Given the description of an element on the screen output the (x, y) to click on. 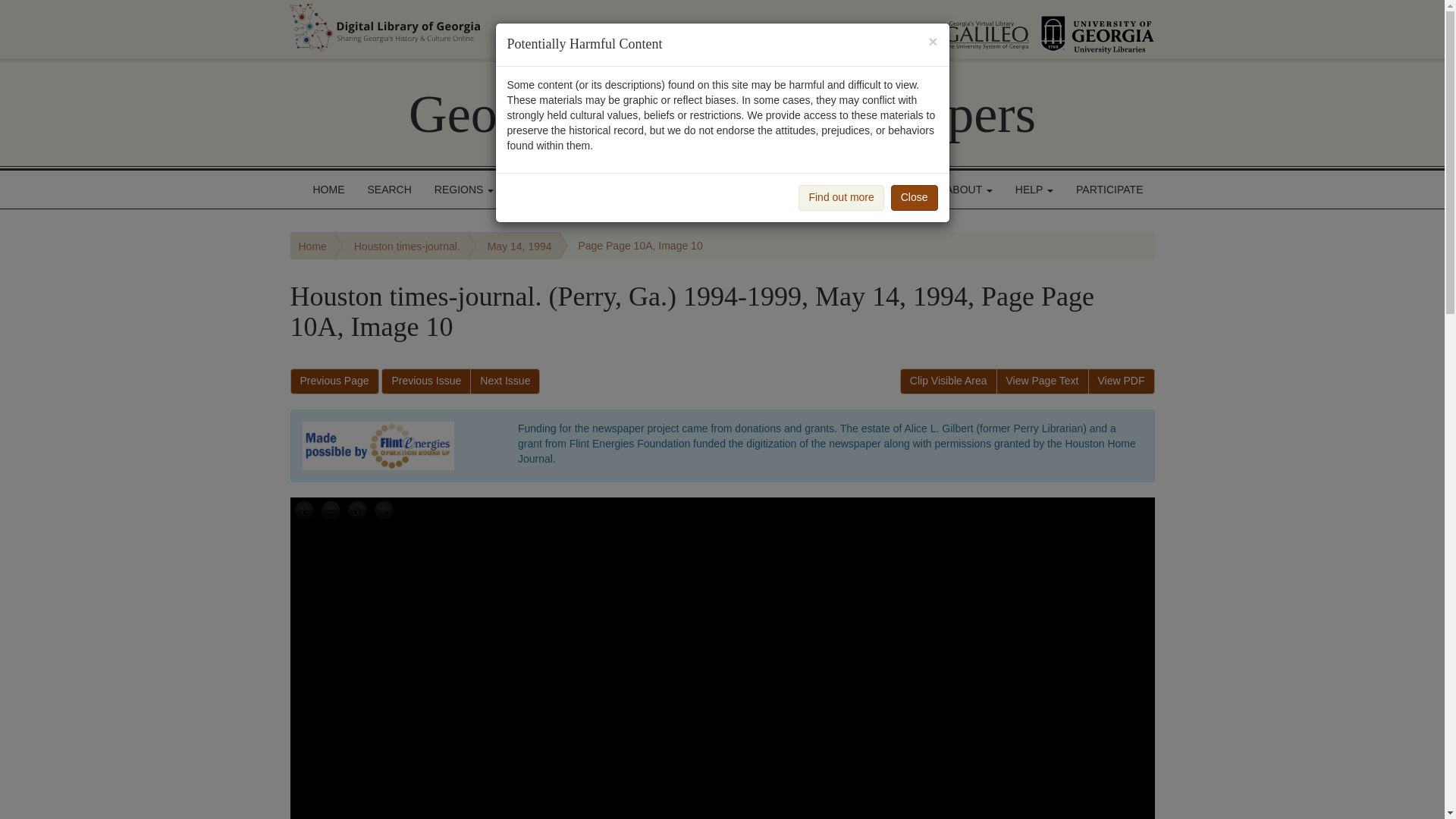
Zoom out (330, 510)
PARTICIPATE (1109, 189)
Home (311, 245)
REGIONS (464, 189)
Zoom in (304, 510)
DLG Homepage Link (536, 27)
Toggle full page (382, 510)
GHNP Homepage (722, 114)
BROWSE (545, 189)
Go home (357, 510)
ABOUT (969, 189)
NEWS (901, 189)
HELP (1034, 189)
SEARCH (389, 189)
GALILEO Homepage Link (968, 29)
